Given the description of an element on the screen output the (x, y) to click on. 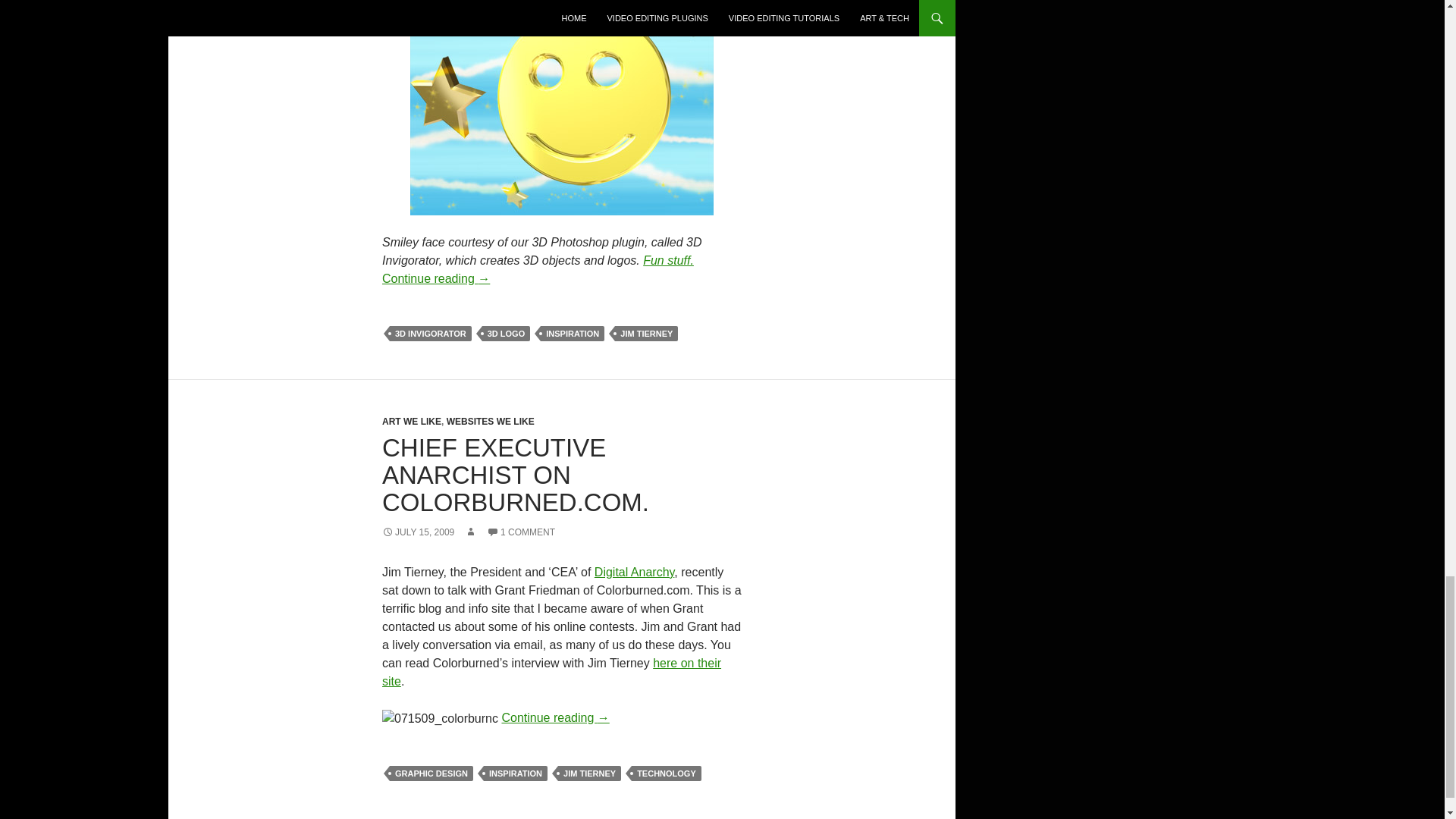
Positively smiley (561, 107)
